Given the description of an element on the screen output the (x, y) to click on. 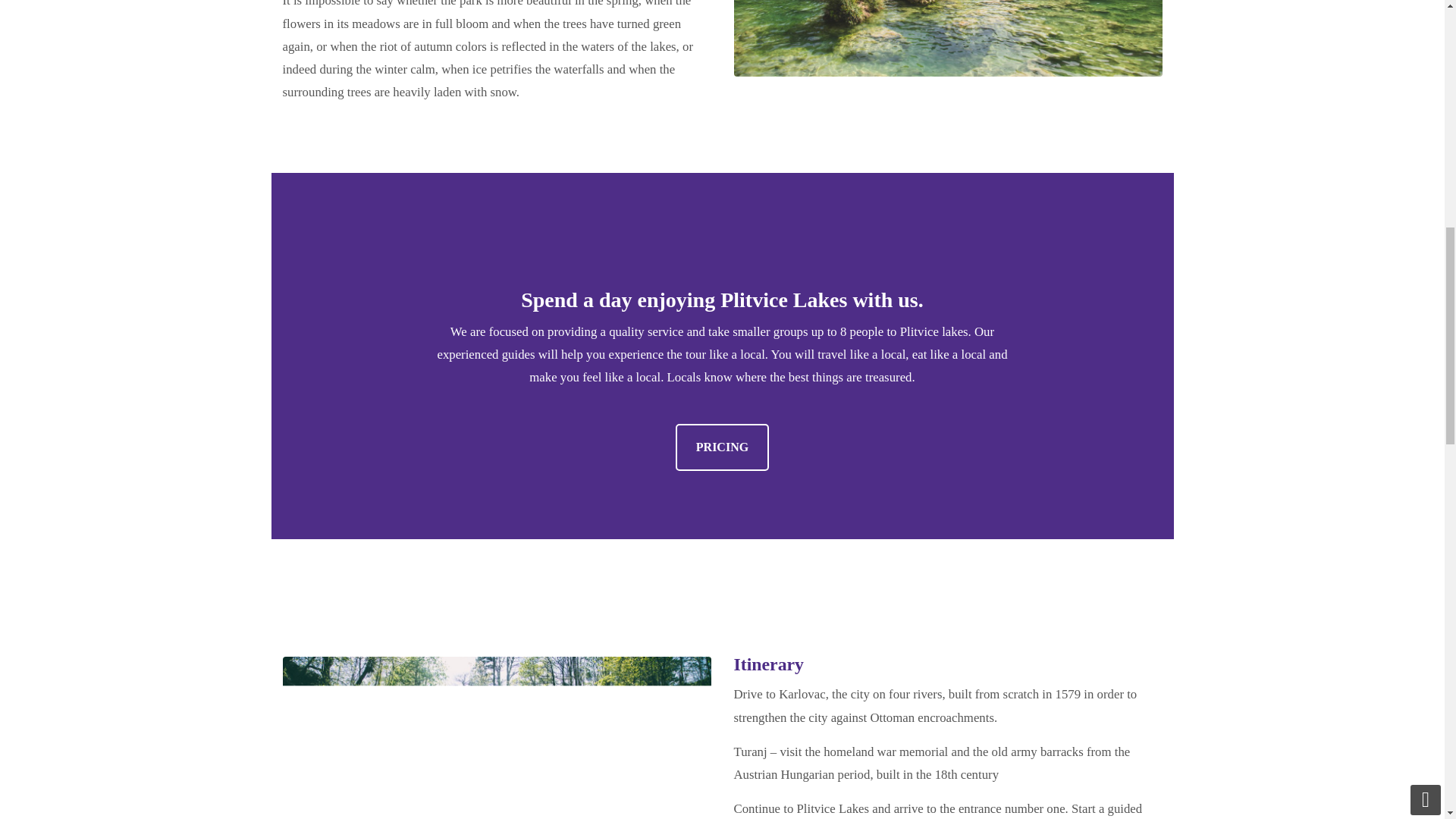
PRICING (721, 447)
Plitvice - Abel rent a car - Excursions (947, 38)
Plitvice - Abel rent a car - Excursions (496, 737)
